Given the description of an element on the screen output the (x, y) to click on. 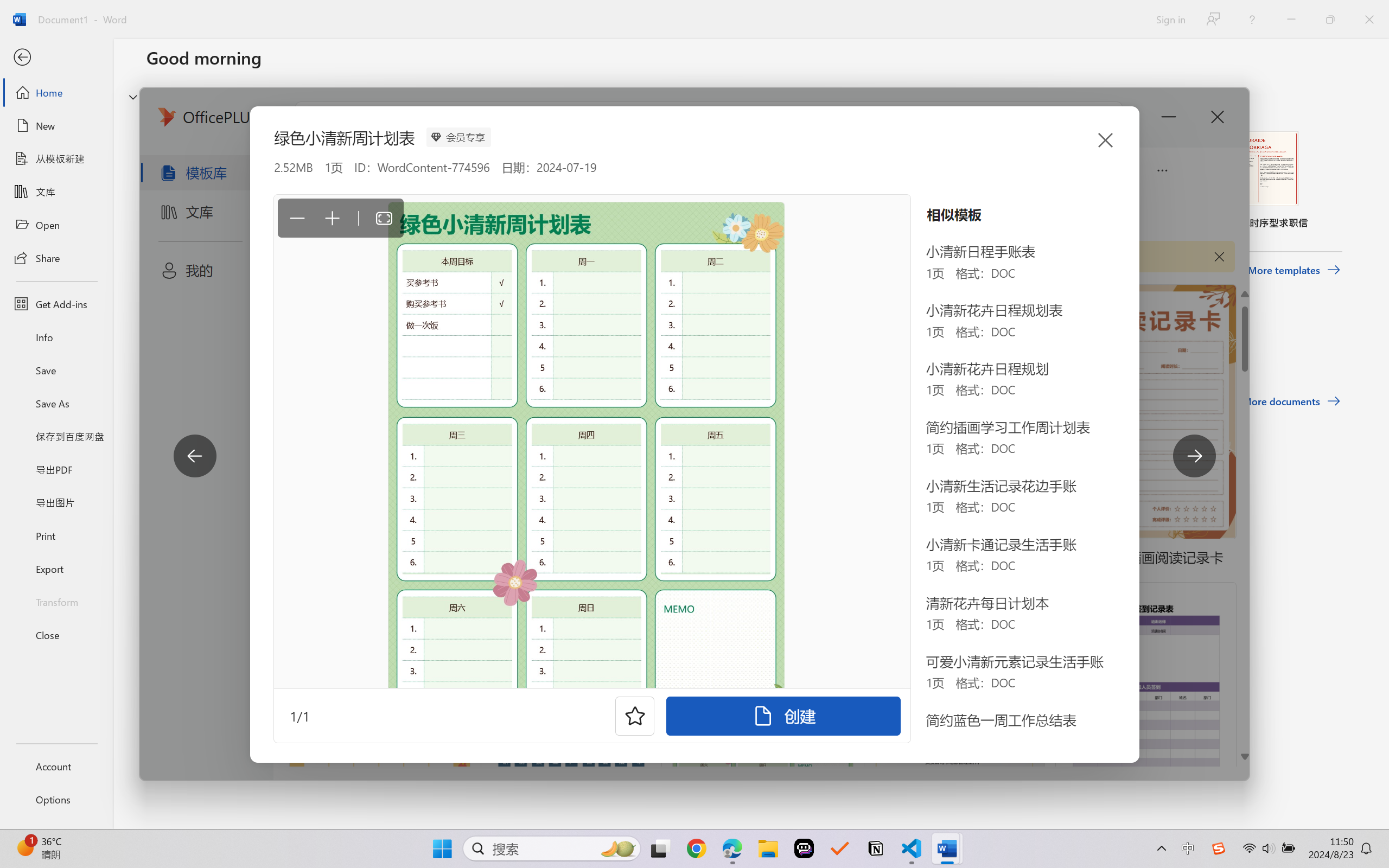
Transform (56, 601)
Info (56, 337)
